Given the description of an element on the screen output the (x, y) to click on. 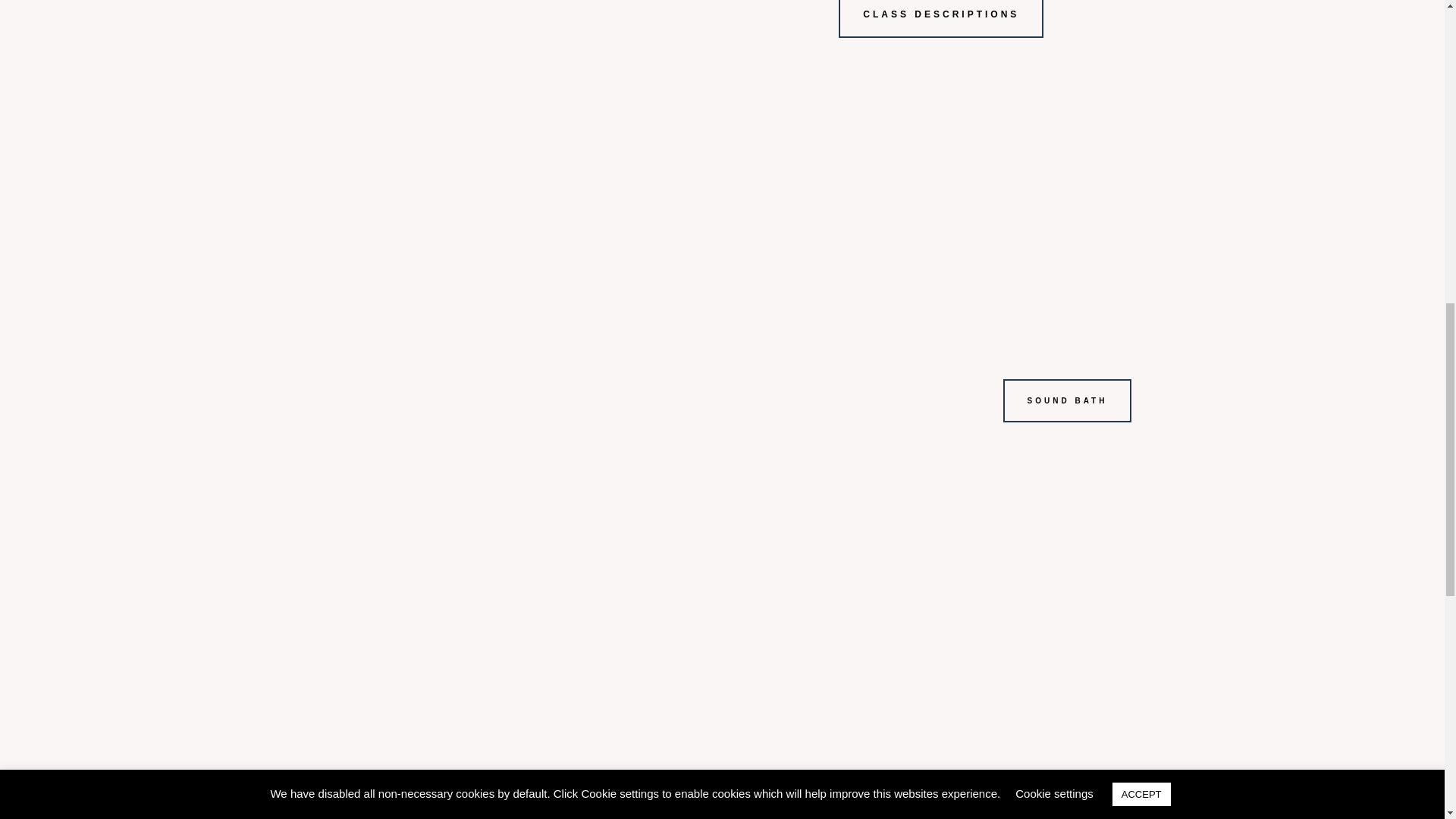
QUERIES? CONTACT ME (1024, 802)
SOUND BATH (1067, 400)
CLASS DESCRIPTIONS (940, 18)
